Given the description of an element on the screen output the (x, y) to click on. 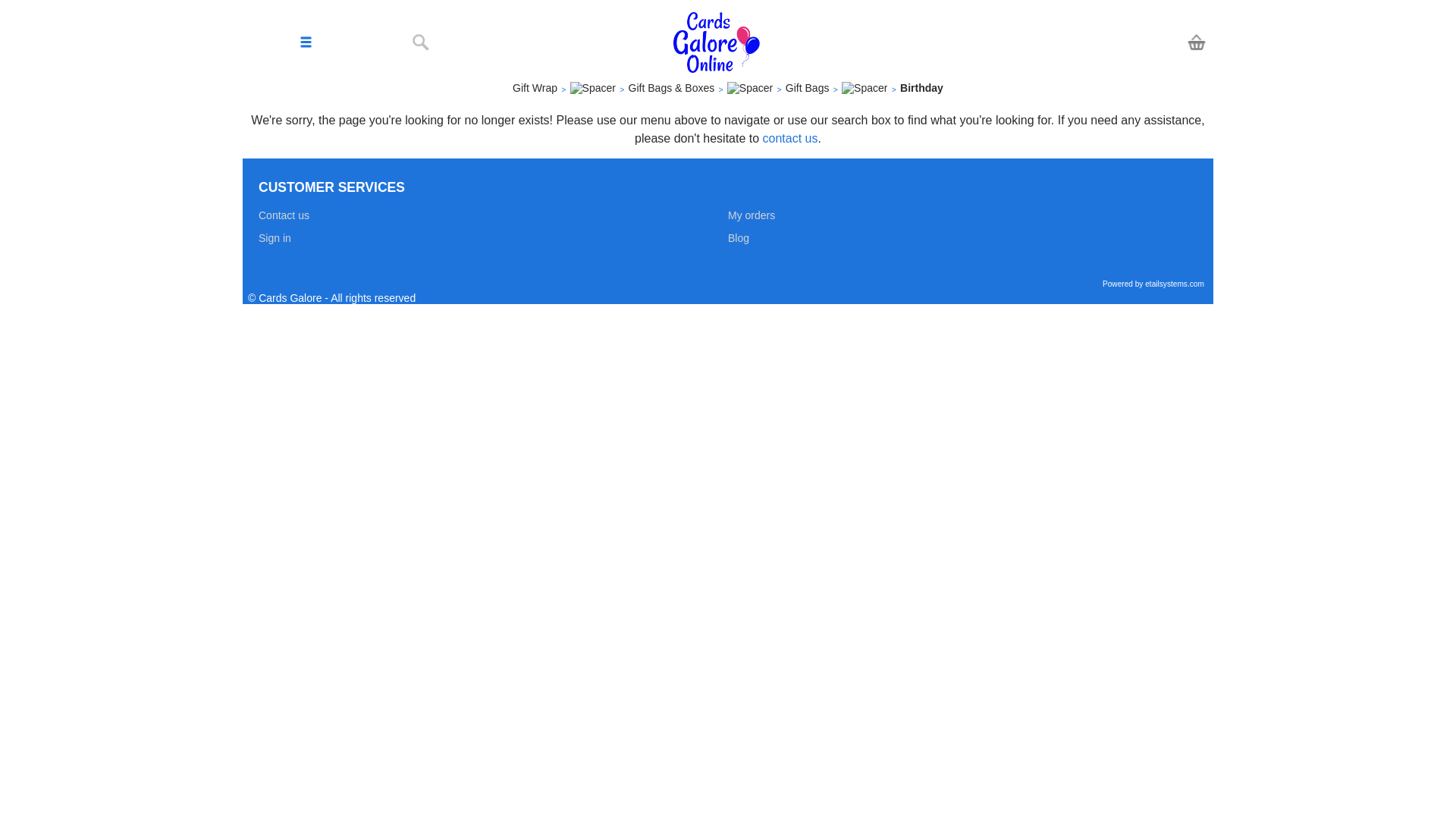
Click to search (419, 43)
Click to view departments (306, 41)
Click to search (419, 41)
Click to view departments (306, 43)
